Given the description of an element on the screen output the (x, y) to click on. 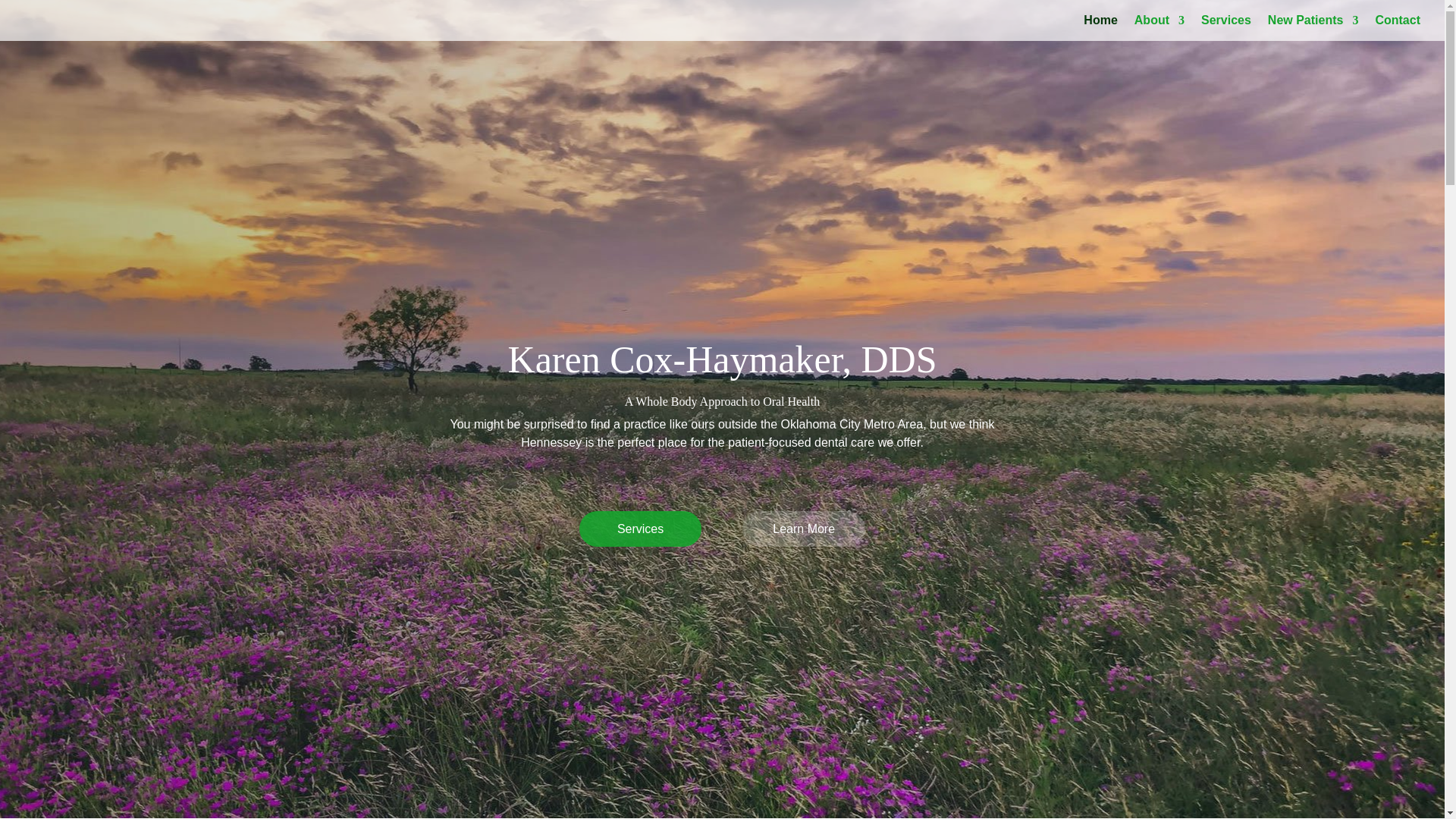
About (1159, 27)
Services (640, 529)
Services (1225, 27)
Home (1099, 27)
Learn More (803, 529)
Contact (1397, 27)
New Patients (1313, 27)
